Given the description of an element on the screen output the (x, y) to click on. 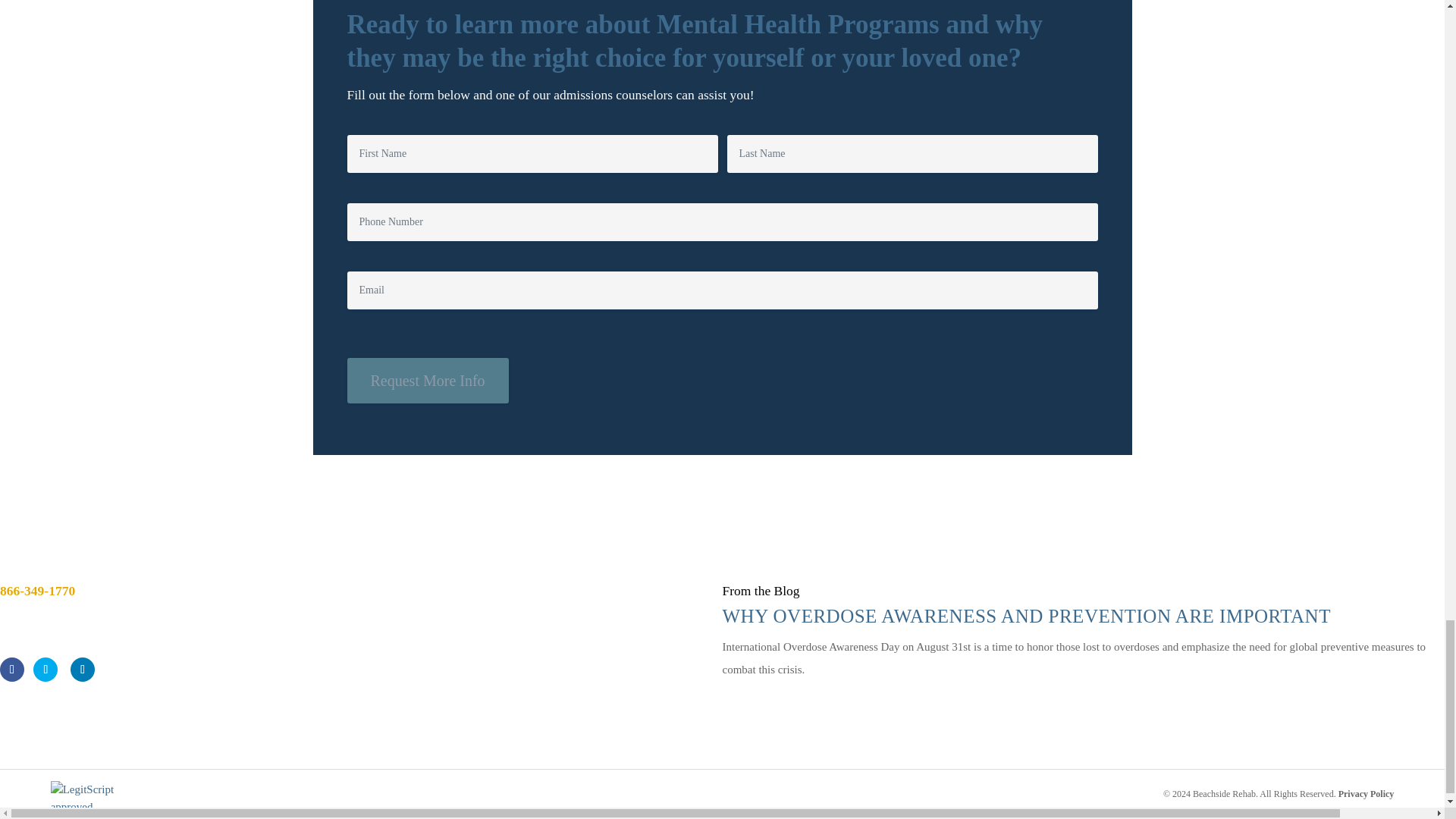
Verify LegitScript Approval (106, 797)
Request More Info (427, 380)
Twitter (45, 669)
Facebook (12, 669)
LinkedIn (81, 669)
